Given the description of an element on the screen output the (x, y) to click on. 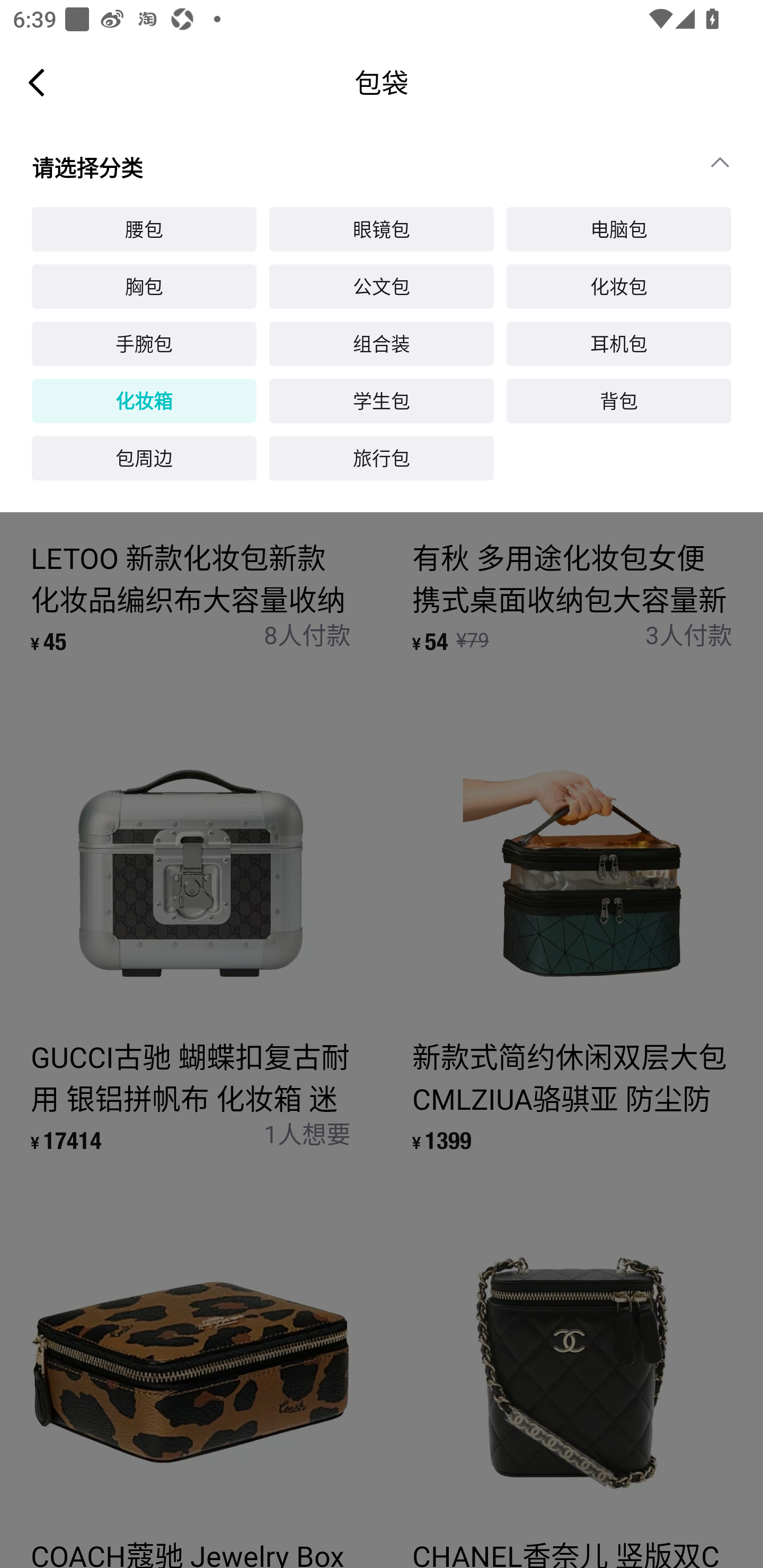
Navigate up (36, 82)
 (727, 162)
腰包 (144, 228)
眼镜包 (381, 228)
电脑包 (618, 228)
胸包 (144, 286)
公文包 (381, 286)
化妆包 (618, 286)
手腕包 (144, 343)
组合装 (381, 343)
耳机包 (618, 343)
化妆箱 (144, 401)
学生包 (381, 401)
背包 (618, 401)
包周边 (144, 457)
旅行包 (381, 457)
